Given the description of an element on the screen output the (x, y) to click on. 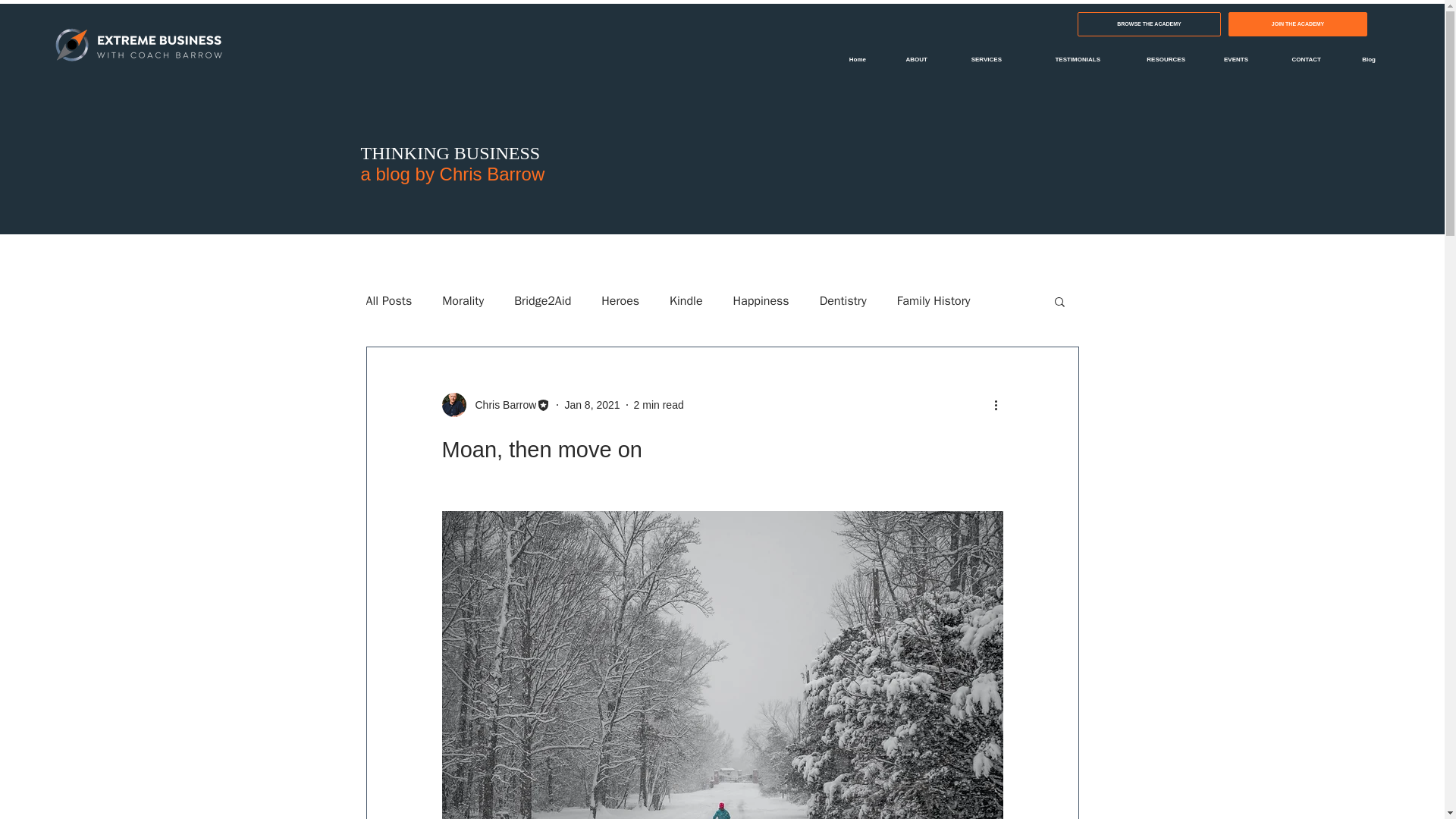
Dentistry (842, 300)
RESOURCES (1154, 59)
Morality (462, 300)
All Posts (388, 300)
Jan 8, 2021 (592, 404)
Chris Barrow (500, 405)
BROWSE THE ACADEMY (1149, 24)
Home (849, 59)
TESTIMONIALS (1062, 59)
EVENTS (1227, 59)
